Given the description of an element on the screen output the (x, y) to click on. 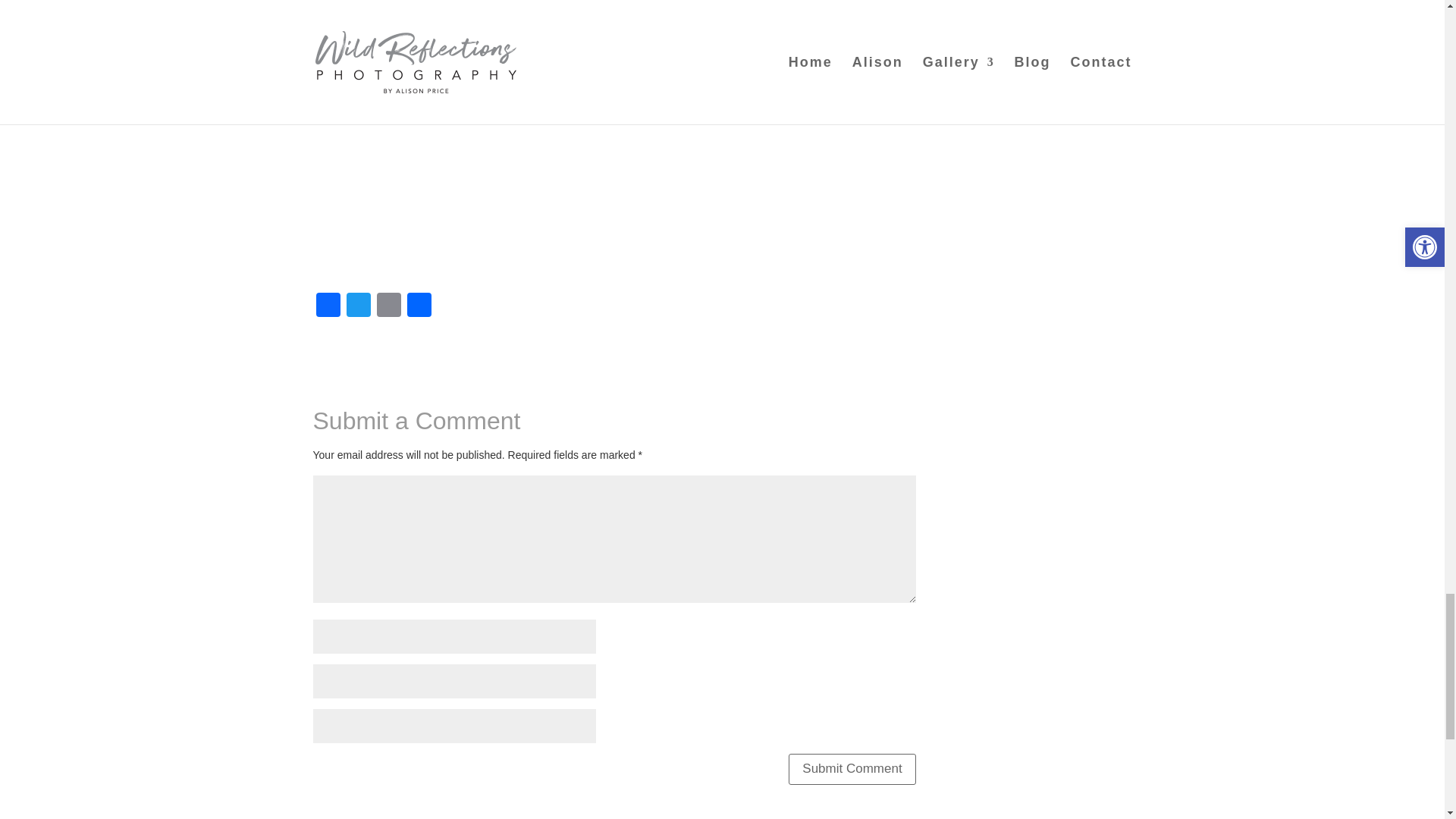
Twitter (357, 306)
Facebook (327, 306)
Email (387, 306)
Email (387, 306)
Facebook (327, 306)
Submit Comment (852, 768)
Twitter (357, 306)
